Given the description of an element on the screen output the (x, y) to click on. 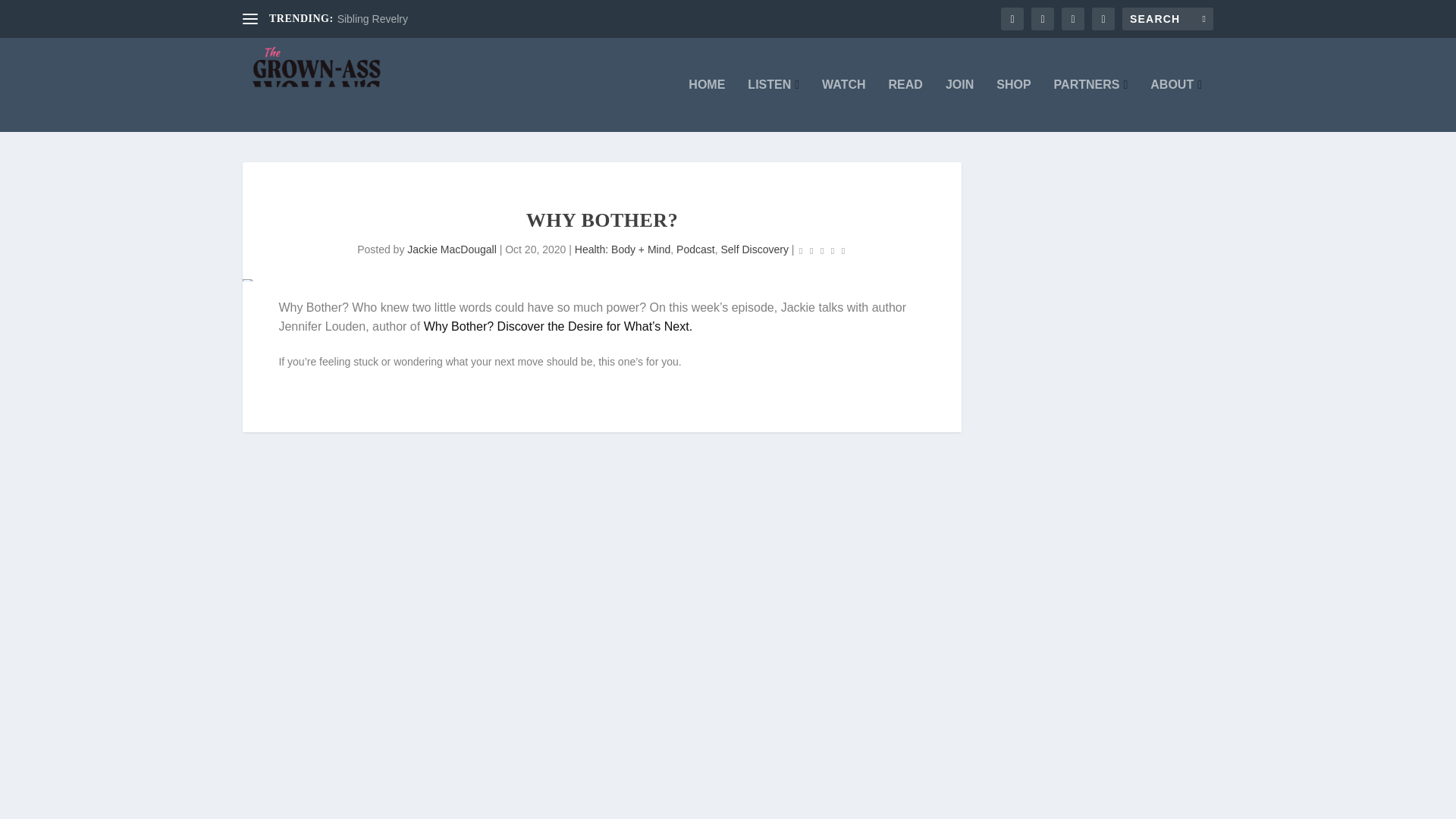
Sibling Revelry (372, 19)
Posts by Jackie MacDougall (451, 249)
ABOUT (1176, 104)
PARTNERS (1091, 104)
Rating: 0.00 (821, 250)
Self Discovery (753, 249)
Jackie MacDougall (451, 249)
Podcast (695, 249)
Search for: (1167, 18)
LISTEN (773, 104)
